Given the description of an element on the screen output the (x, y) to click on. 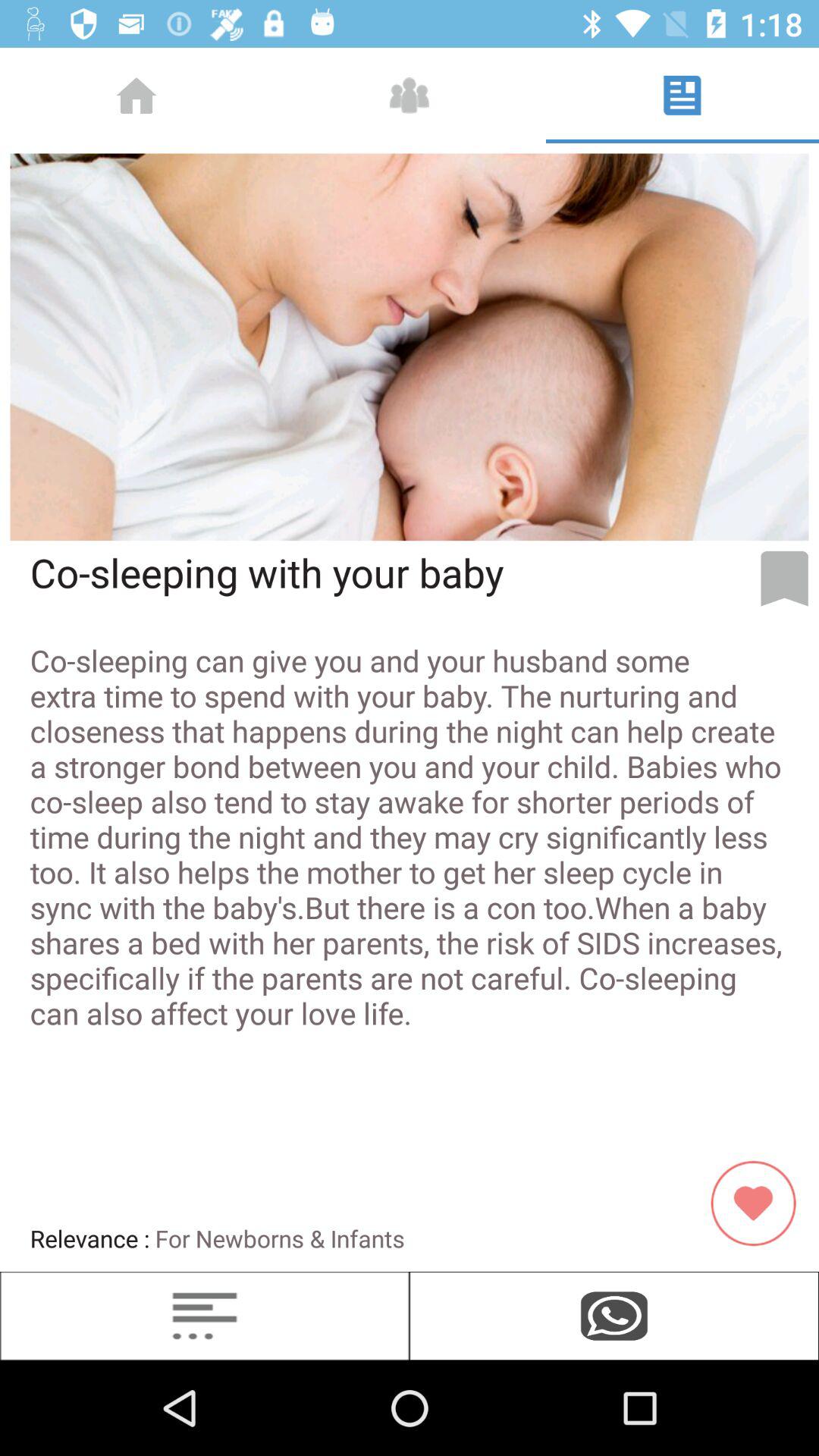
go to red color icon (759, 1202)
select the save icon (784, 577)
select the icon what app down below (614, 1315)
click on the image which is beside relevance  for newborns  infants (759, 1202)
